Given the description of an element on the screen output the (x, y) to click on. 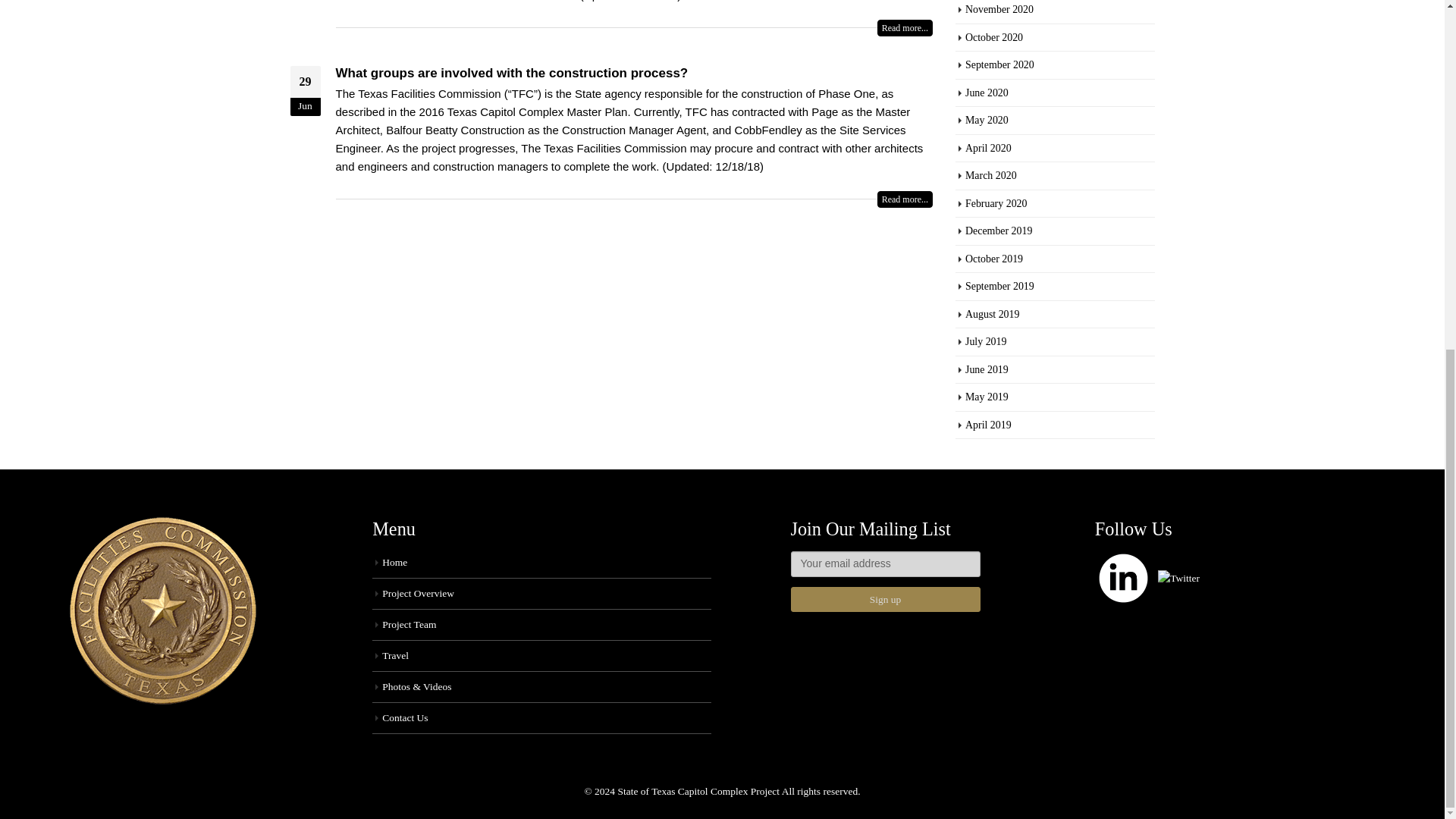
What groups are involved with the construction process? (510, 73)
Read more... (905, 199)
Sign up (884, 599)
Read more... (905, 27)
